Given the description of an element on the screen output the (x, y) to click on. 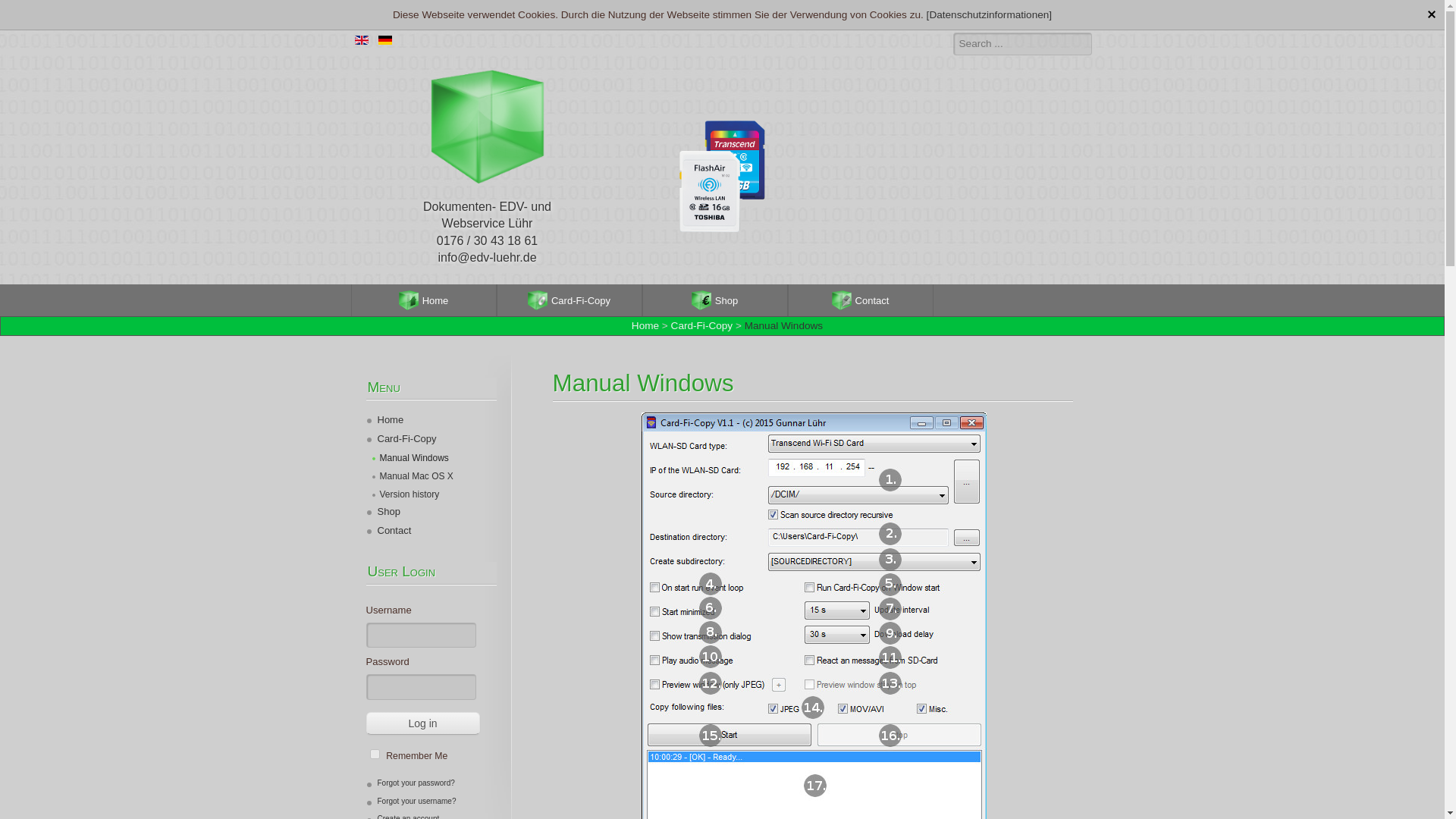
Contact (387, 531)
yes (374, 754)
Log in (422, 722)
Card-Fi-Copy (400, 439)
Version history (405, 494)
Manual Mac OS X (411, 476)
Home (645, 325)
Create an account (402, 815)
Forgot your username? (410, 801)
Shop (714, 300)
Manual Windows (409, 458)
Card-Fi-Copy (702, 325)
Card-Fi-Copy (569, 300)
Contact (860, 300)
Forgot your password? (409, 783)
